Given the description of an element on the screen output the (x, y) to click on. 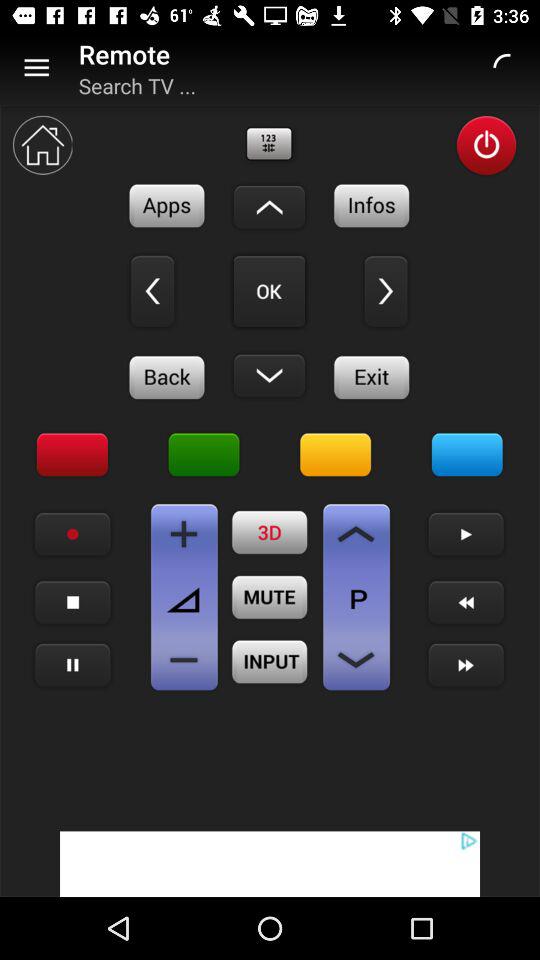
off button (486, 145)
